Given the description of an element on the screen output the (x, y) to click on. 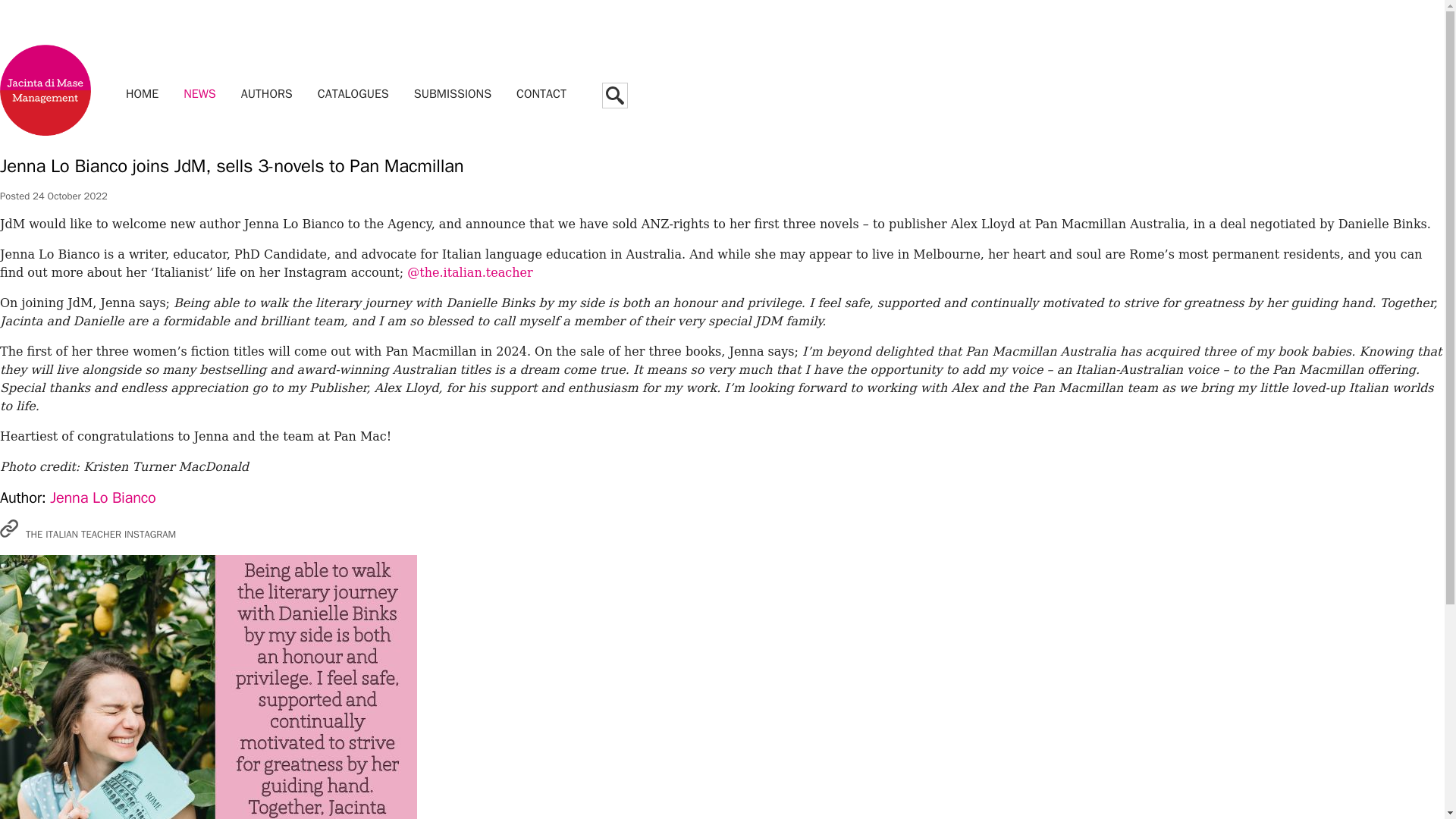
THE ITALIAN TEACHER INSTAGRAM (88, 530)
NEWS (199, 93)
SUBMISSIONS (452, 93)
CONTACT (540, 93)
CATALOGUES (353, 93)
AUTHORS (266, 93)
HOME (141, 93)
Jenna Lo Bianco (102, 497)
